Given the description of an element on the screen output the (x, y) to click on. 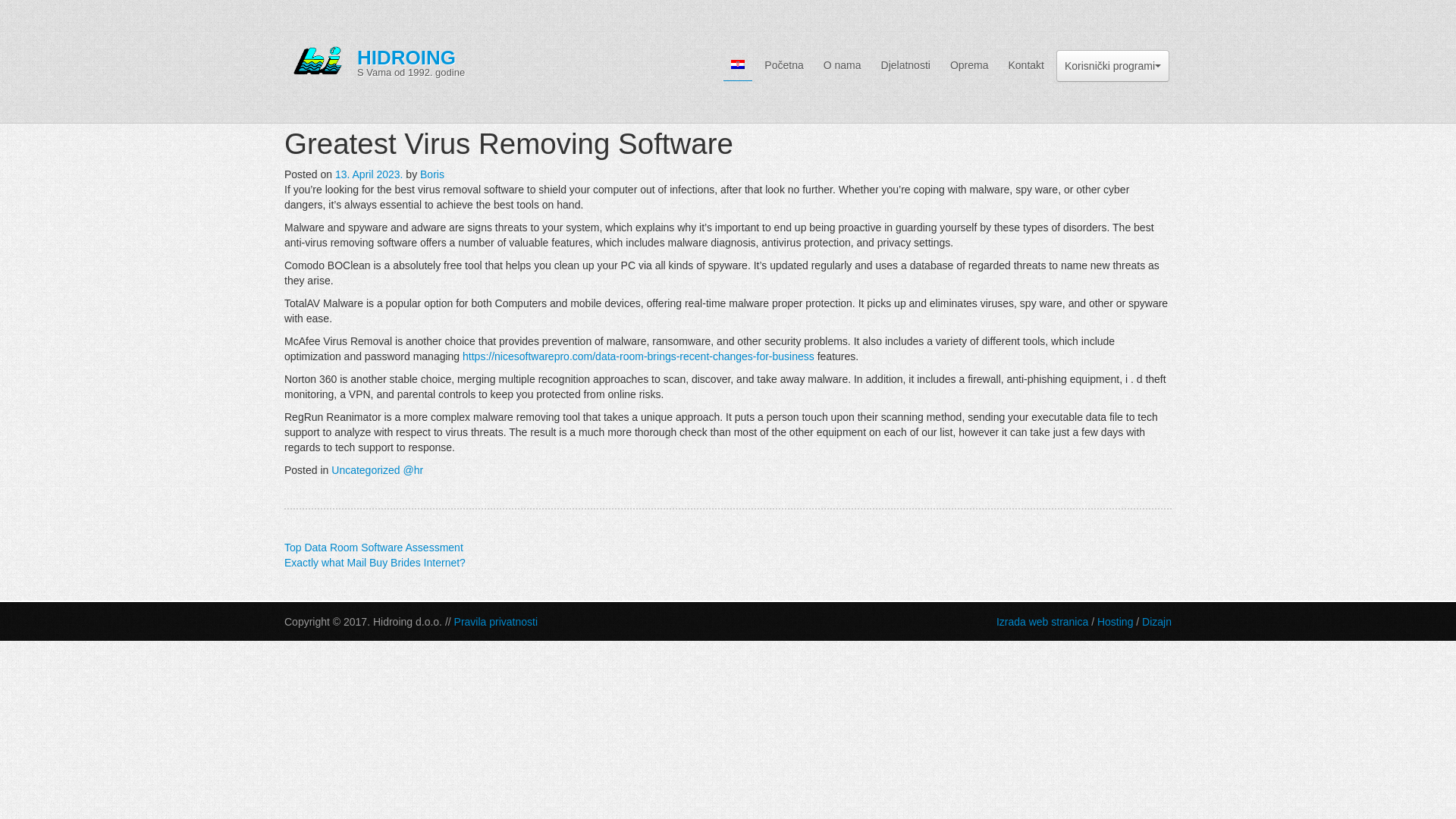
Djelatnosti (905, 64)
Exactly what Mail Buy Brides Internet? (374, 562)
Kontakt (1025, 64)
Boris (432, 174)
Web hosting (1114, 621)
Izrada web stranica (1041, 621)
Izrada web stranica (1041, 621)
Hosting (402, 61)
Pravila privatnosti (1114, 621)
Oprema (496, 621)
13. April 2023. (968, 64)
Dizajn (368, 174)
Top Data Room Software Assessment (1156, 621)
O nama (373, 547)
